Given the description of an element on the screen output the (x, y) to click on. 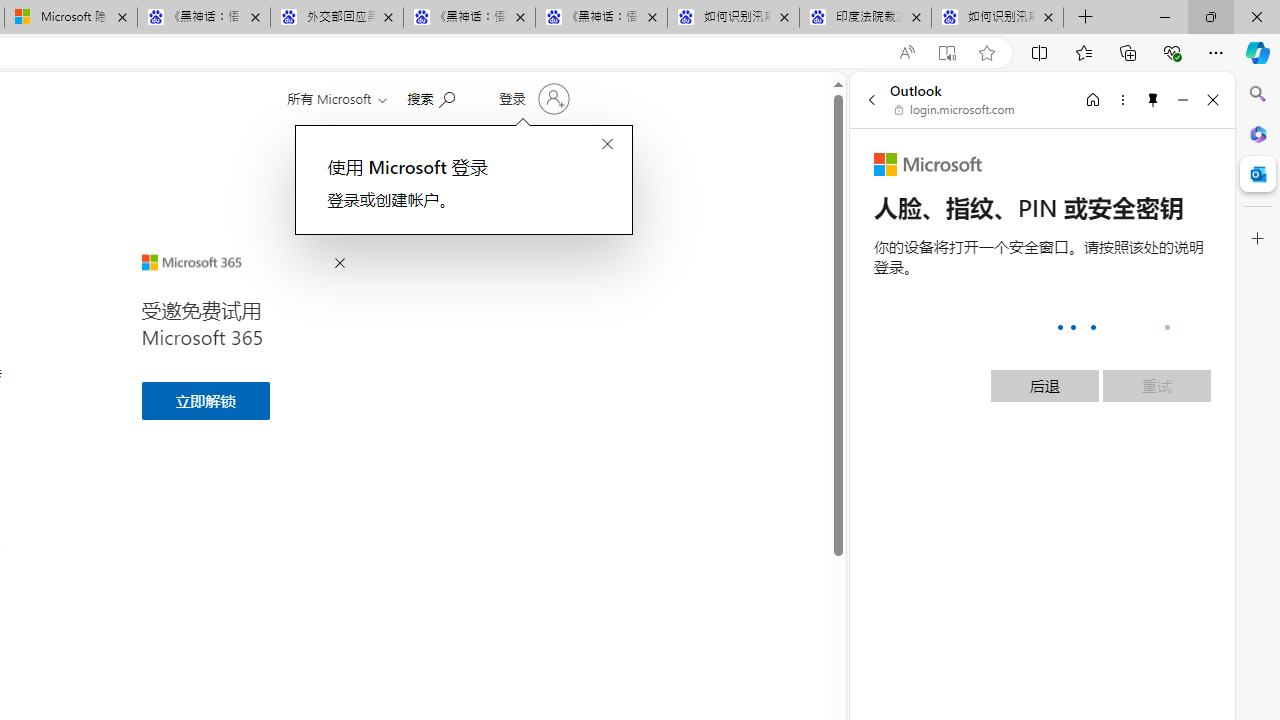
Close callout prompt. (607, 145)
Unpin side pane (1153, 99)
